Given the description of an element on the screen output the (x, y) to click on. 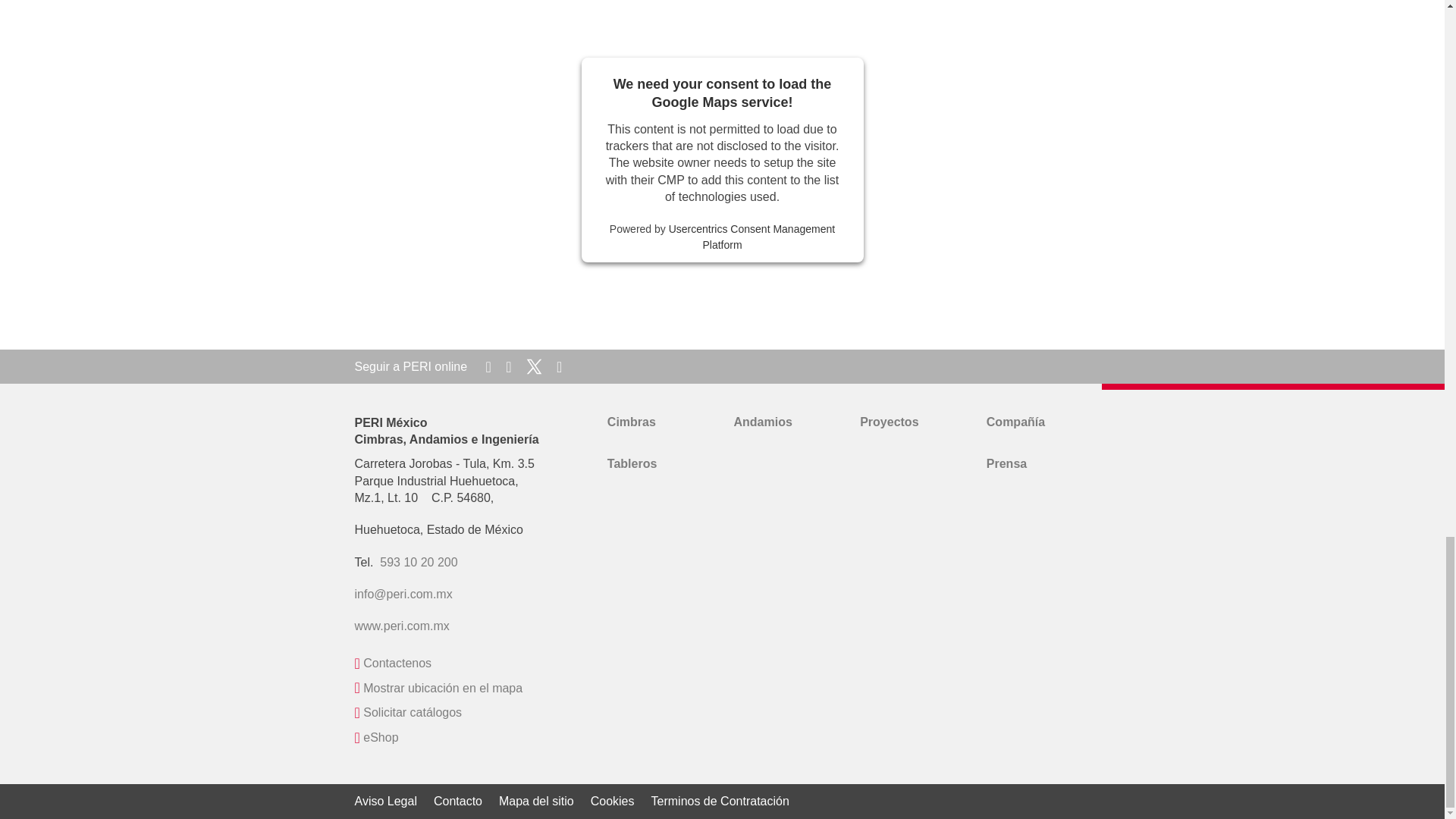
PERI en Twitter (534, 365)
